Given the description of an element on the screen output the (x, y) to click on. 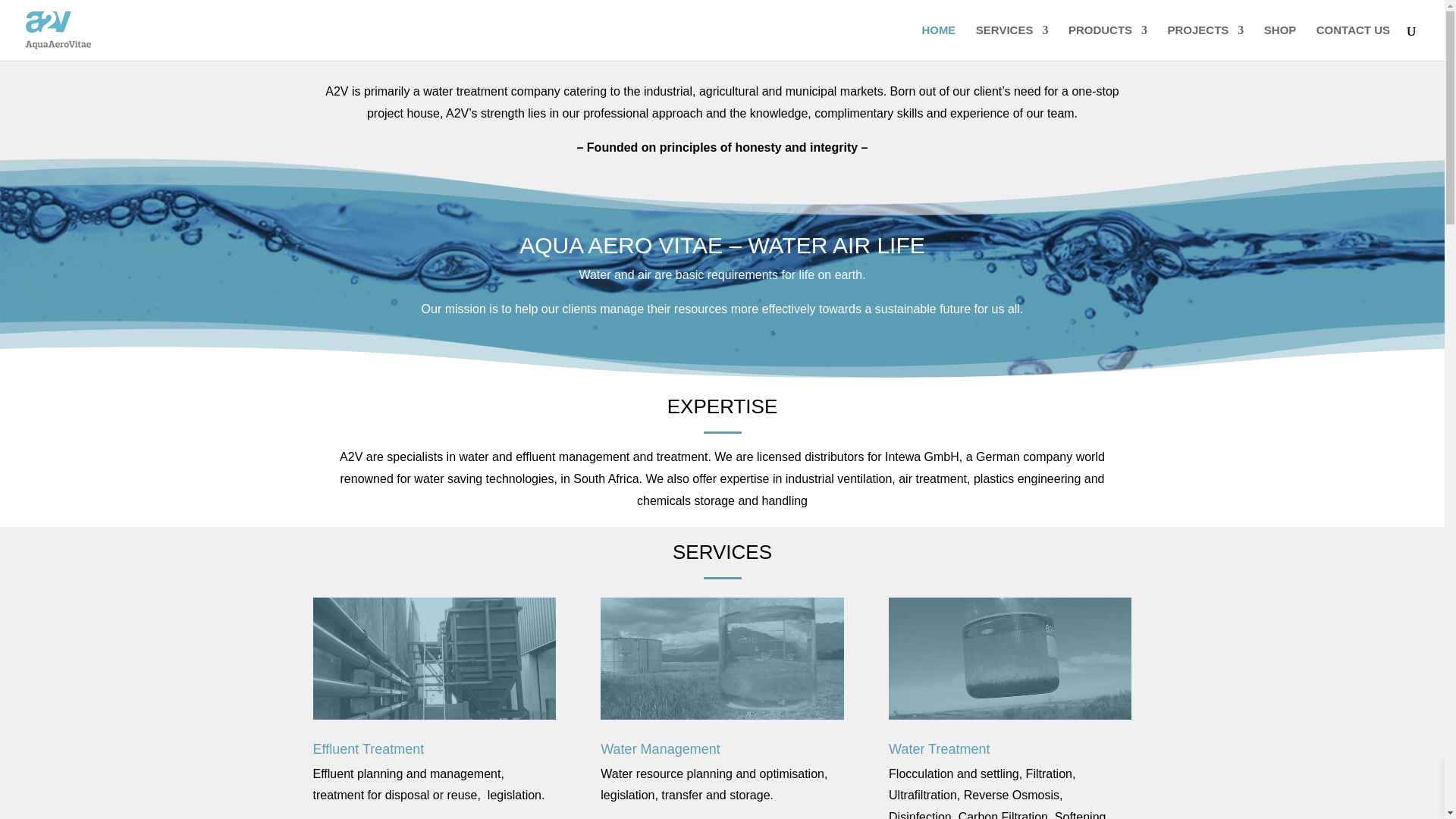
PRODUCTS (1107, 42)
SERVICES (1011, 42)
HOME (938, 42)
